Given the description of an element on the screen output the (x, y) to click on. 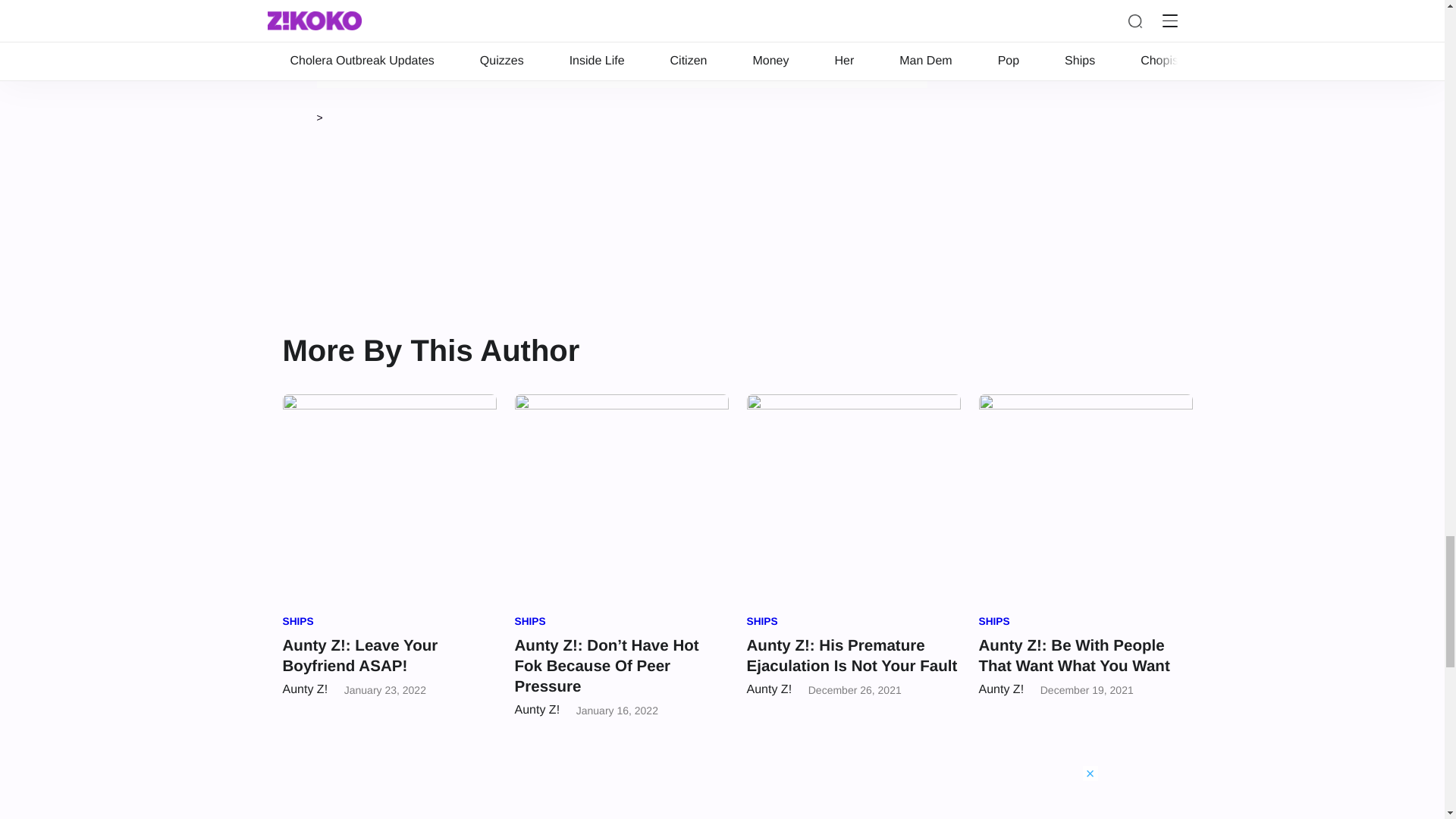
Posts by Aunty Z! (536, 709)
Posts by Aunty Z! (768, 688)
Posts by Aunty Z! (304, 688)
Posts by Aunty Z! (1000, 688)
